Given the description of an element on the screen output the (x, y) to click on. 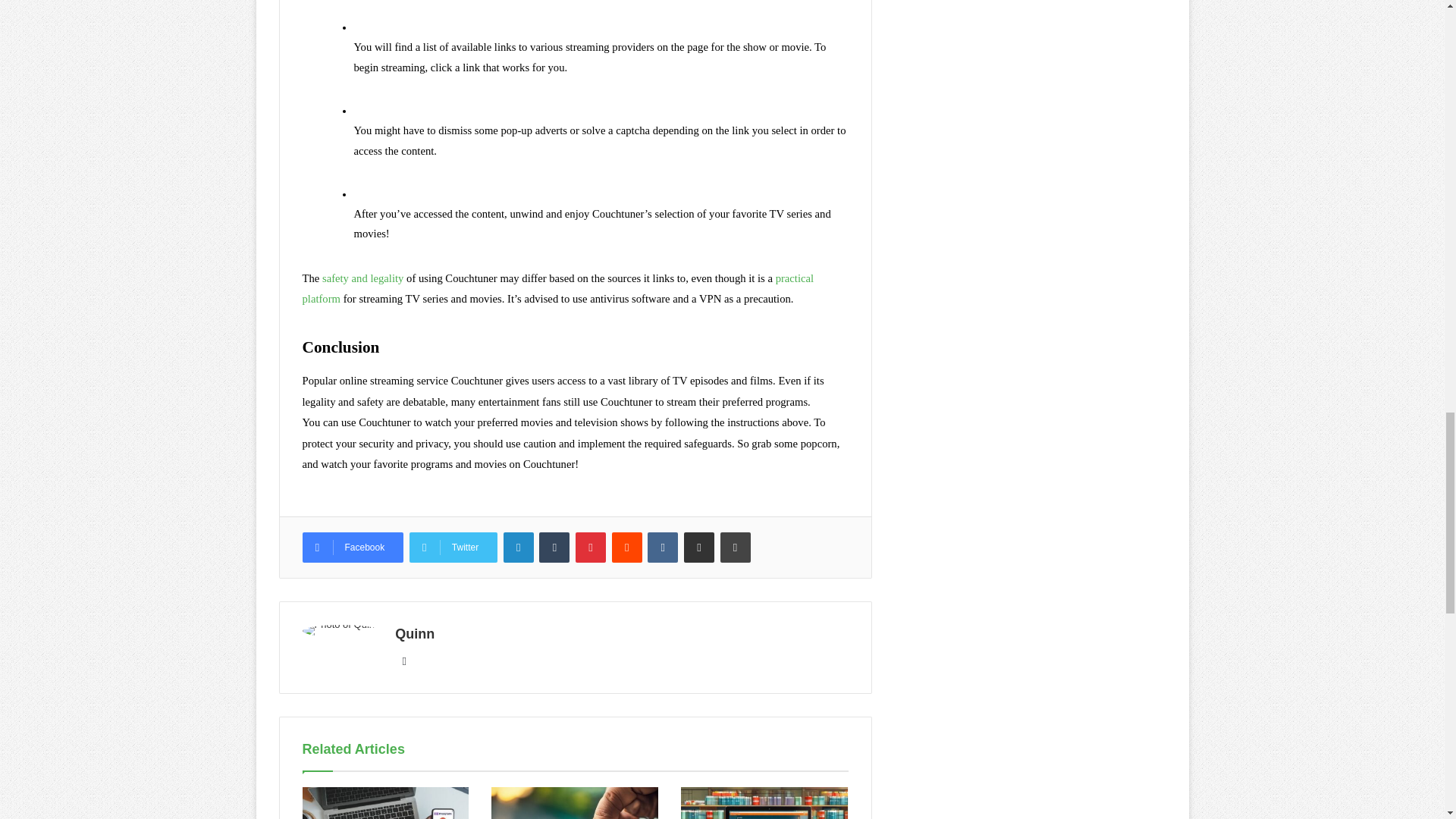
Quinn (413, 633)
Reddit (626, 547)
Share via Email (699, 547)
VKontakte (662, 547)
LinkedIn (518, 547)
safety and legality (362, 277)
VKontakte (662, 547)
Tumblr (553, 547)
Facebook (352, 547)
Print (735, 547)
Pinterest (590, 547)
Twitter (453, 547)
 practical platform (558, 287)
Share via Email (699, 547)
Facebook (352, 547)
